Given the description of an element on the screen output the (x, y) to click on. 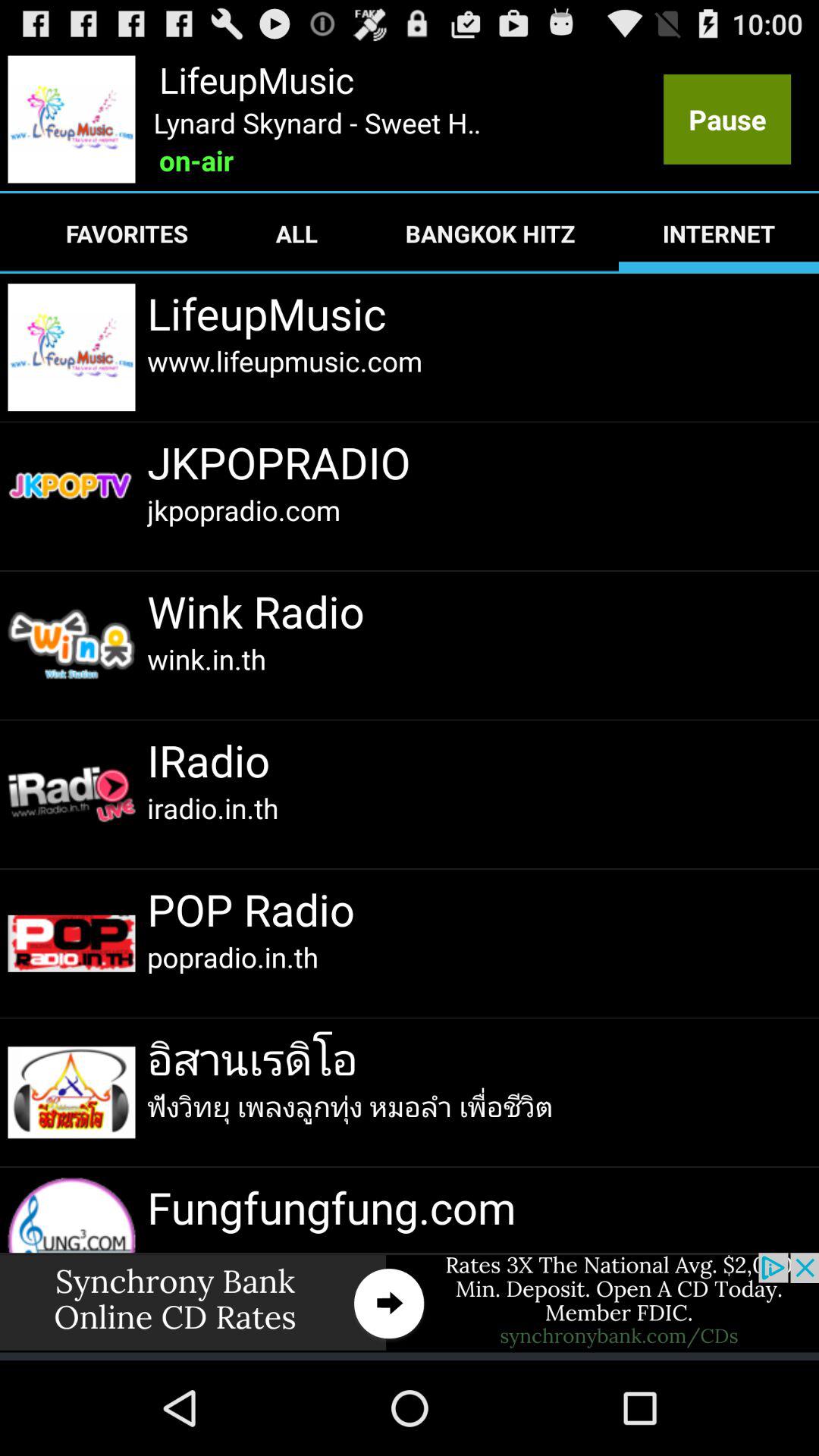
go to advertisements website (409, 1302)
